Given the description of an element on the screen output the (x, y) to click on. 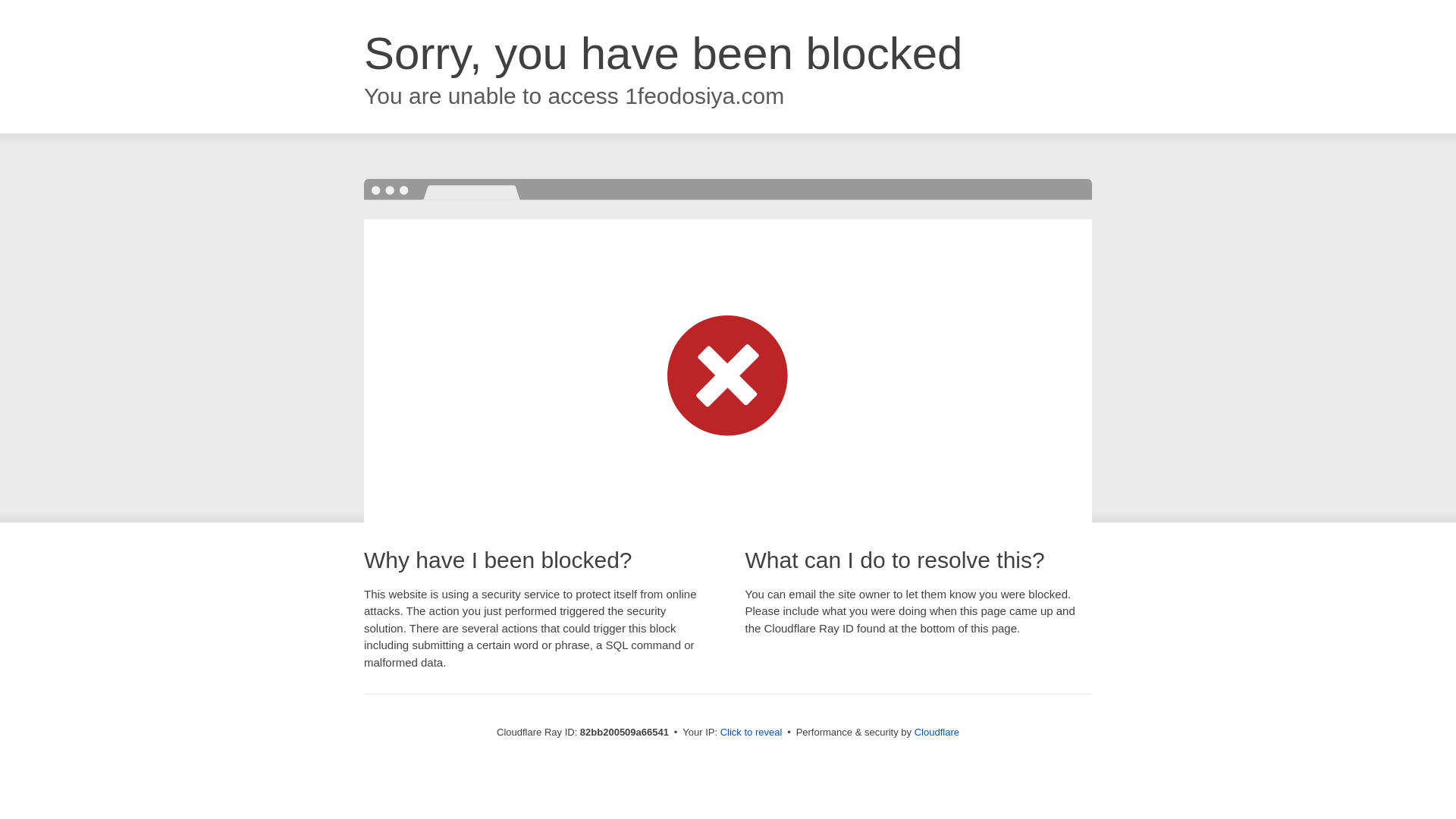
Click to reveal Element type: text (751, 732)
Cloudflare Element type: text (936, 731)
